Given the description of an element on the screen output the (x, y) to click on. 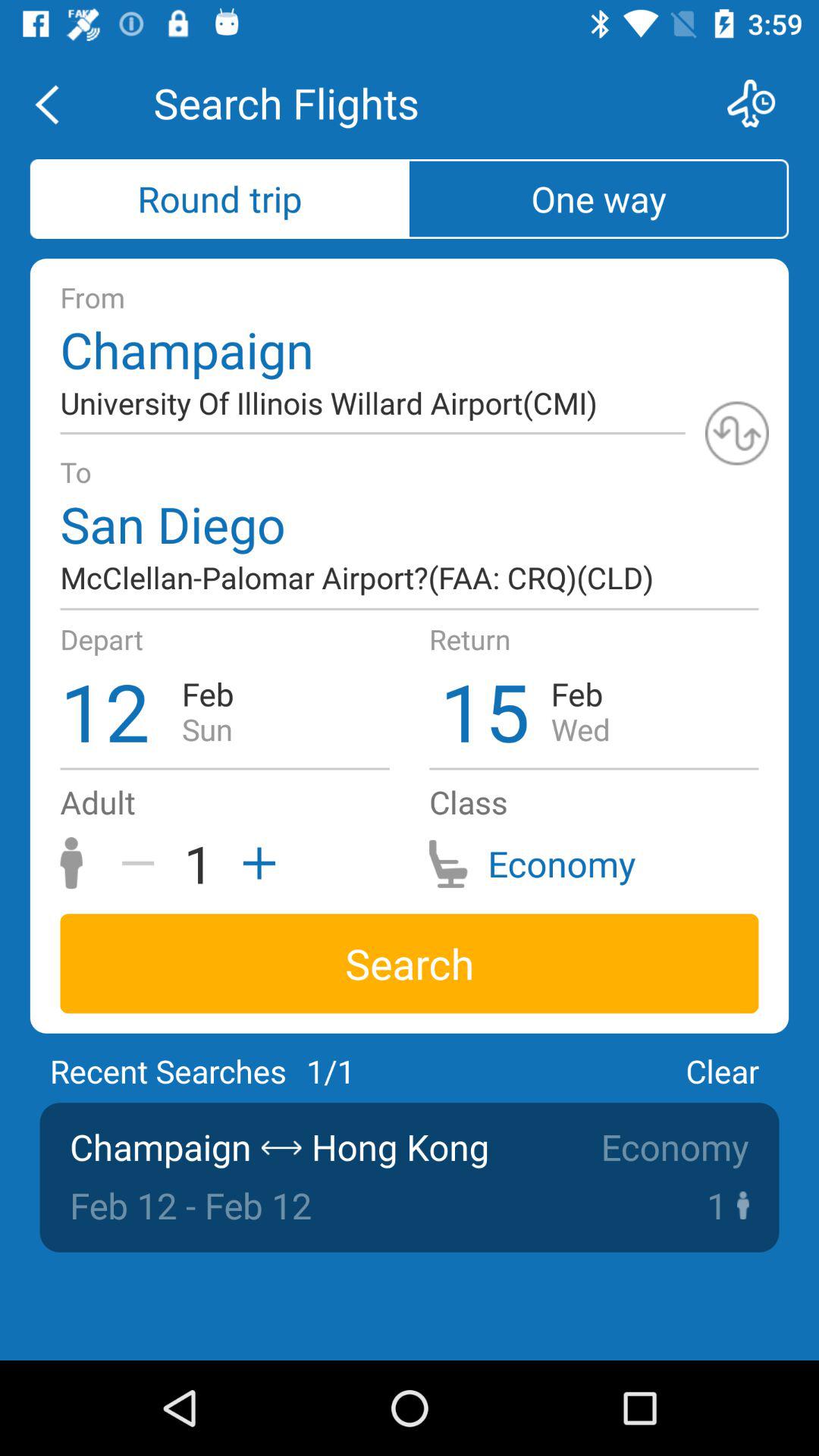
turn off icon above the from (598, 198)
